Given the description of an element on the screen output the (x, y) to click on. 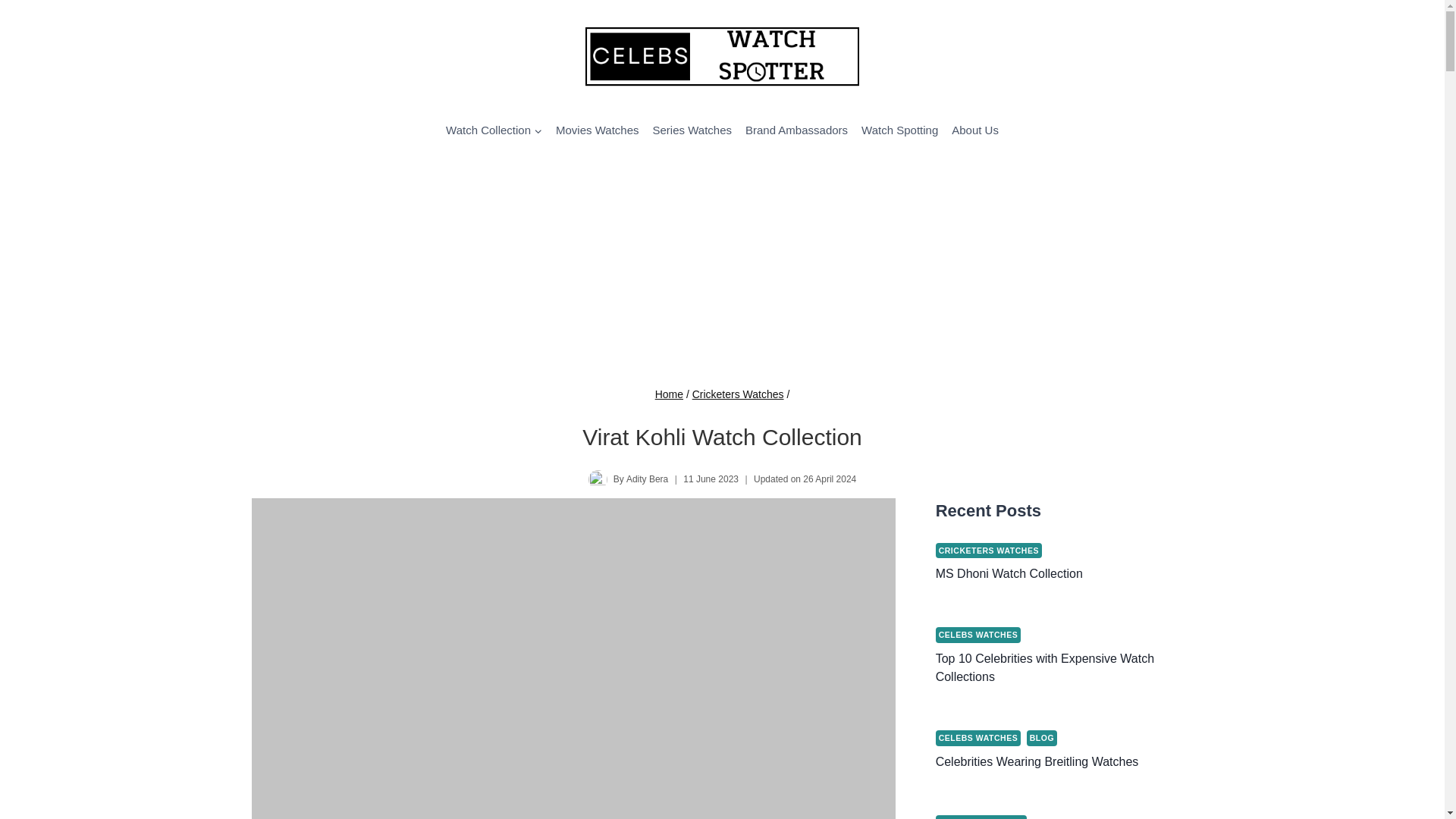
Series Watches (692, 130)
Adity Bera (647, 479)
About Us (975, 130)
Movies Watches (596, 130)
Brand Ambassadors (796, 130)
Watch Collection (493, 130)
Watch Spotting (899, 130)
Cricketers Watches (738, 394)
Home (668, 394)
